Given the description of an element on the screen output the (x, y) to click on. 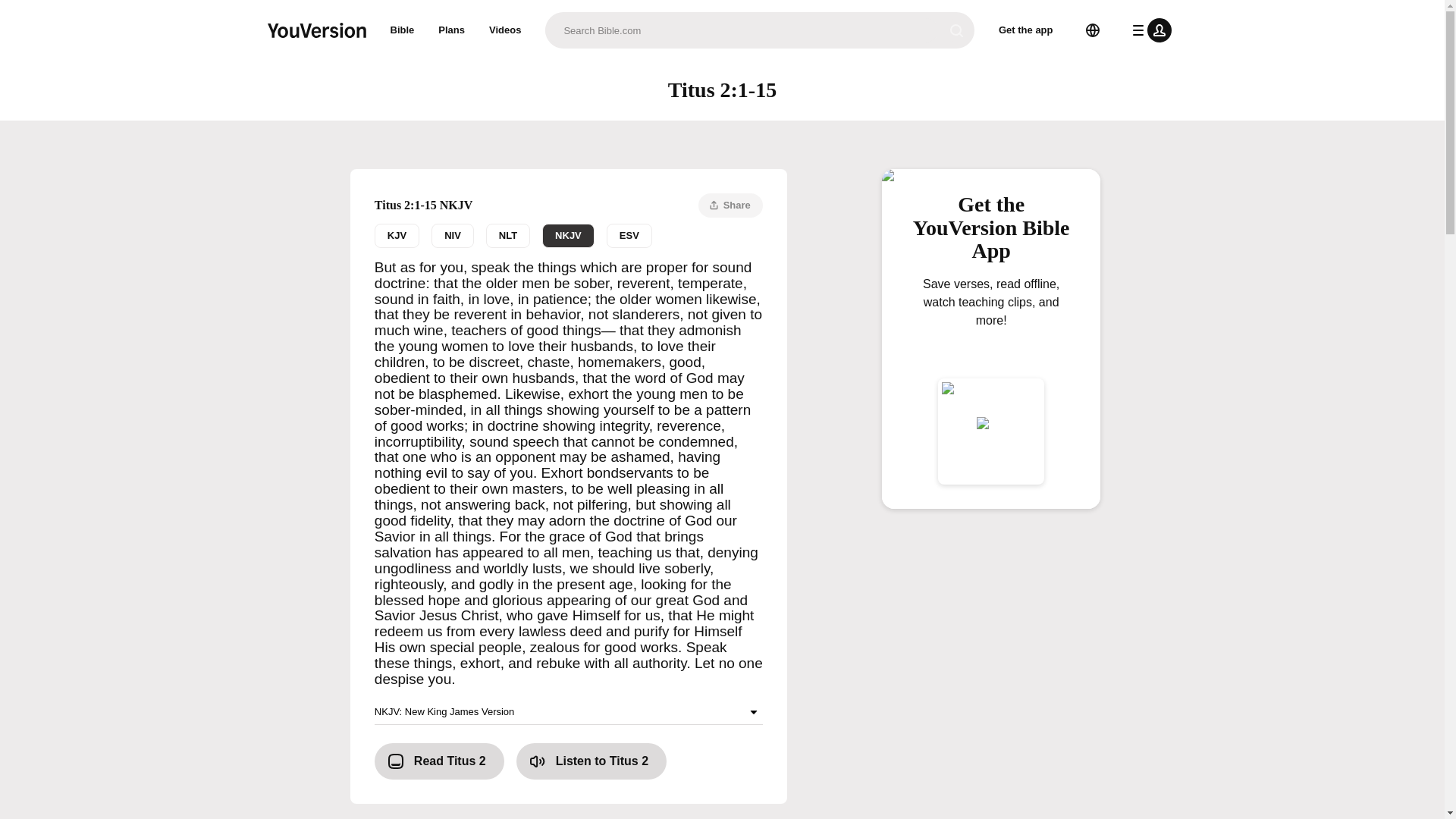
ESV (629, 235)
Save verses, read offline, watch teaching clips, and more! (991, 326)
Share (730, 205)
Get the YouVersion Bible App (991, 234)
Videos (504, 29)
Plans (451, 29)
Bible (401, 29)
Listen to Titus 2 (568, 235)
NKJV: New King James Version (591, 760)
